Given the description of an element on the screen output the (x, y) to click on. 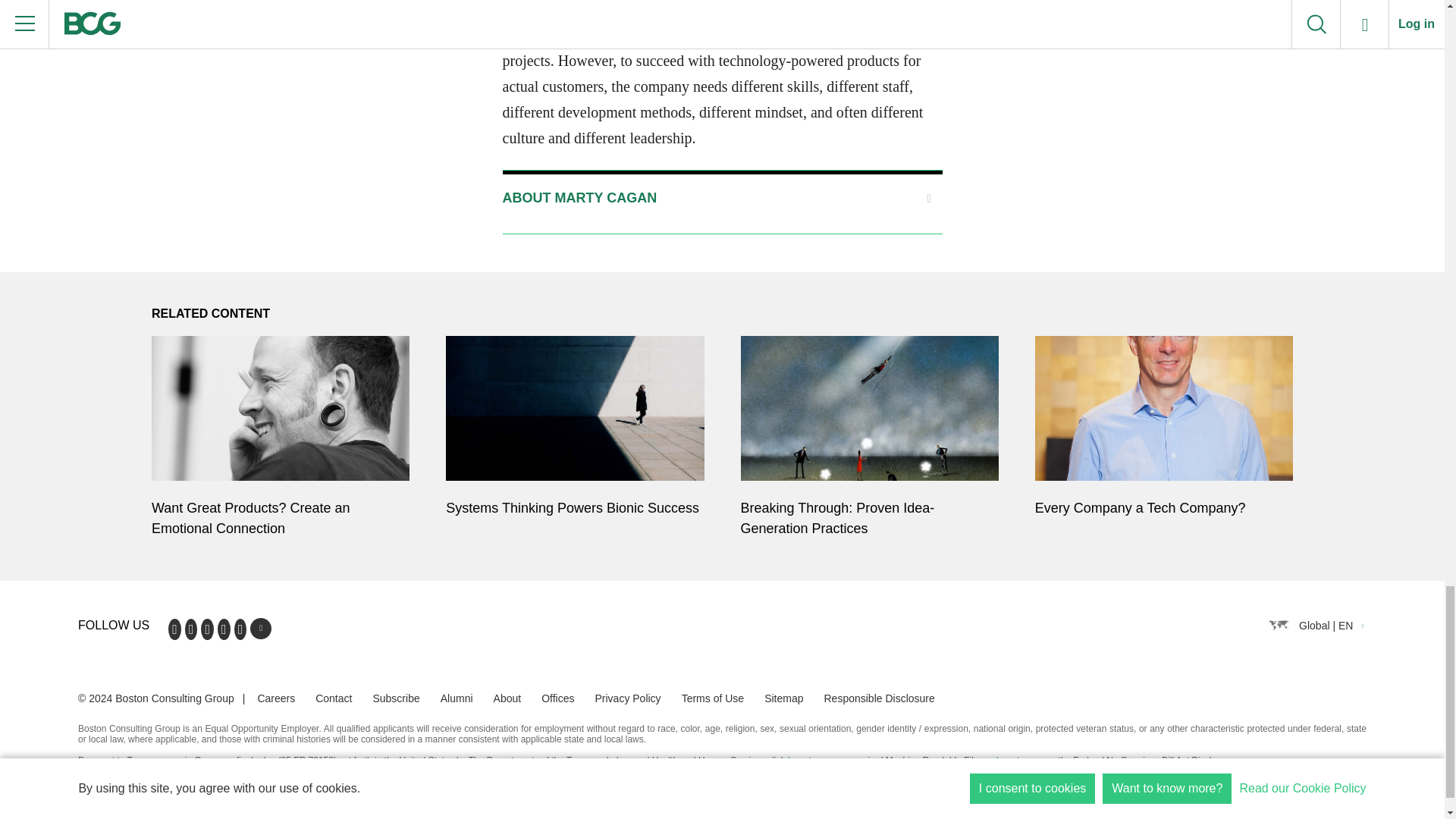
Want Great Products? Create an Emotional Connection (280, 522)
Item 0 (722, 197)
Breaking Through: Proven Idea-Generation Practices (868, 522)
Every Company a Tech Company? (1163, 511)
ABOUT MARTY CAGAN (722, 197)
Systems Thinking Powers Bionic Success (574, 511)
